Given the description of an element on the screen output the (x, y) to click on. 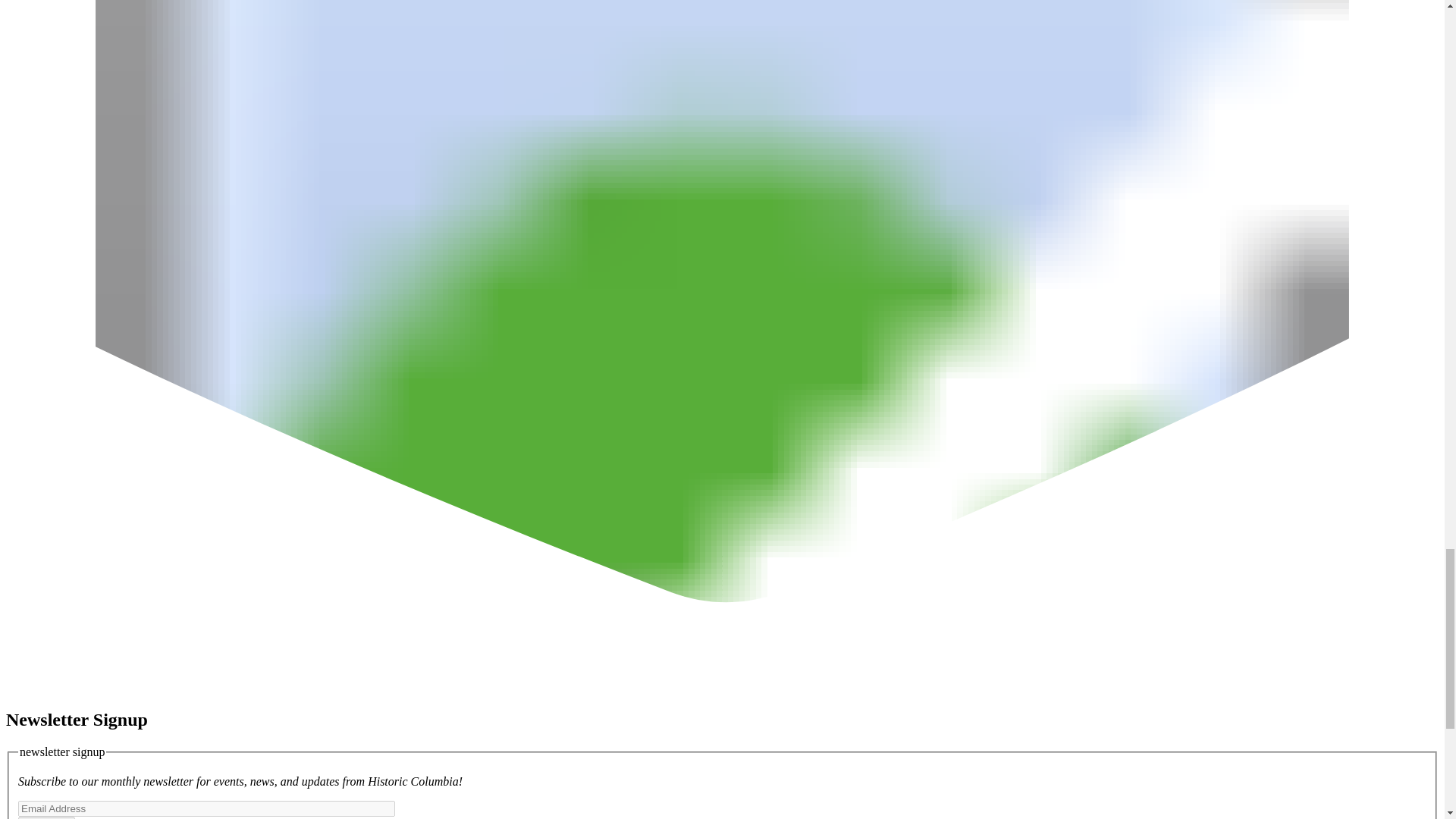
Subscribe (46, 817)
